Given the description of an element on the screen output the (x, y) to click on. 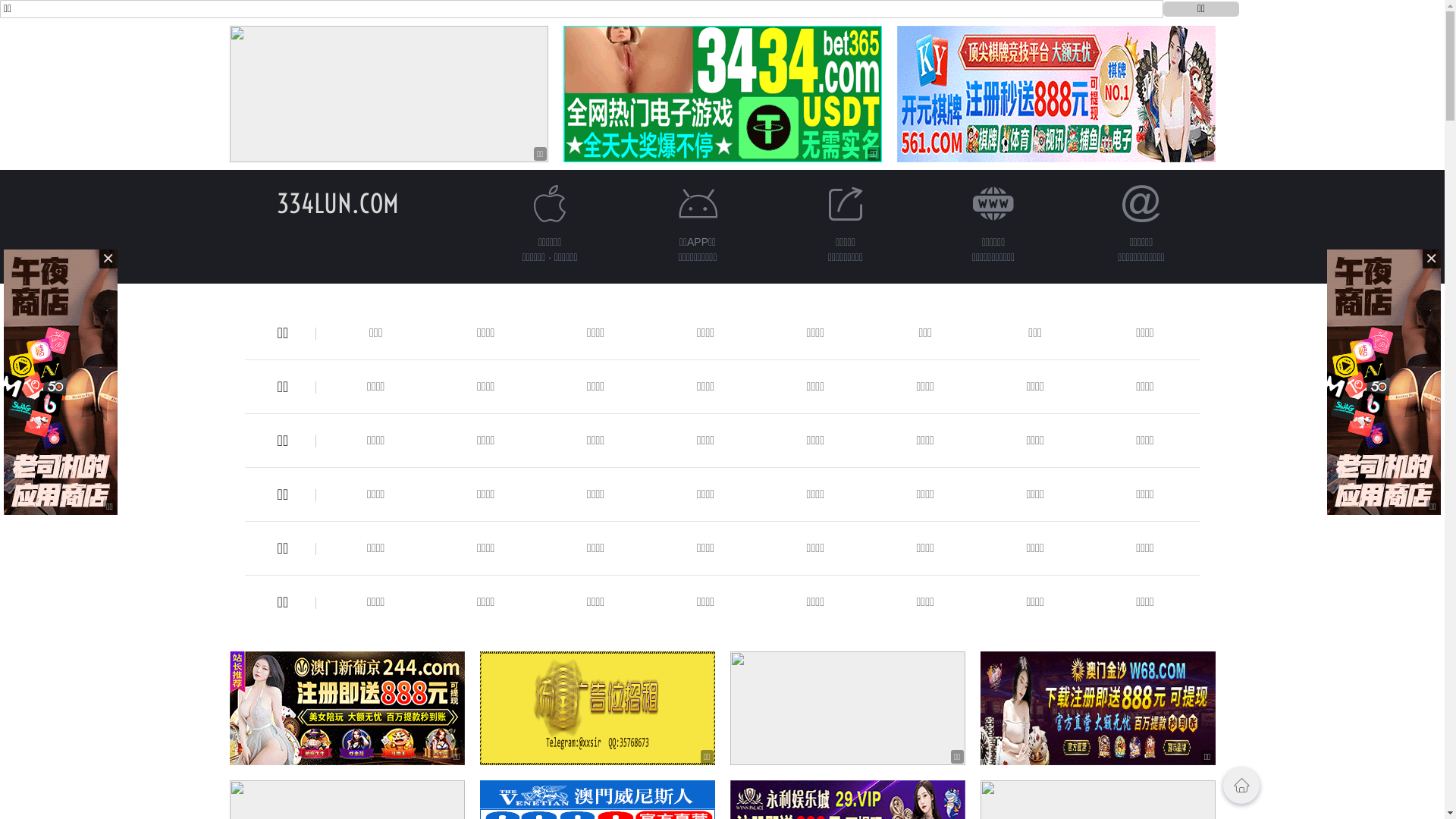
334LUN.COM Element type: text (337, 203)
